Given the description of an element on the screen output the (x, y) to click on. 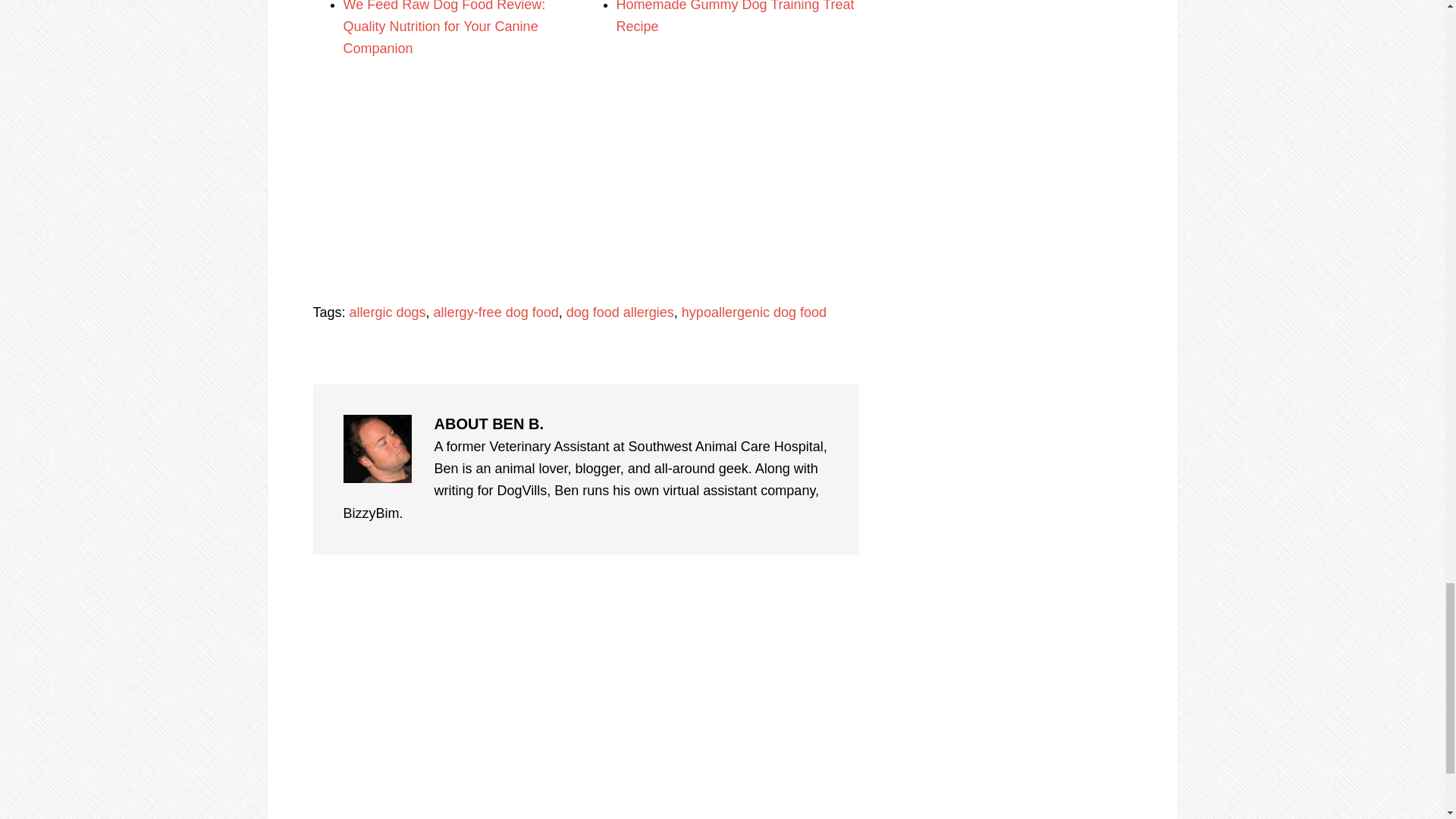
allergy-free dog food (496, 312)
dog food allergies (620, 312)
allergic dogs (387, 312)
hypoallergenic dog food (754, 312)
Homemade Gummy Dog Training Treat Recipe (734, 17)
